Given the description of an element on the screen output the (x, y) to click on. 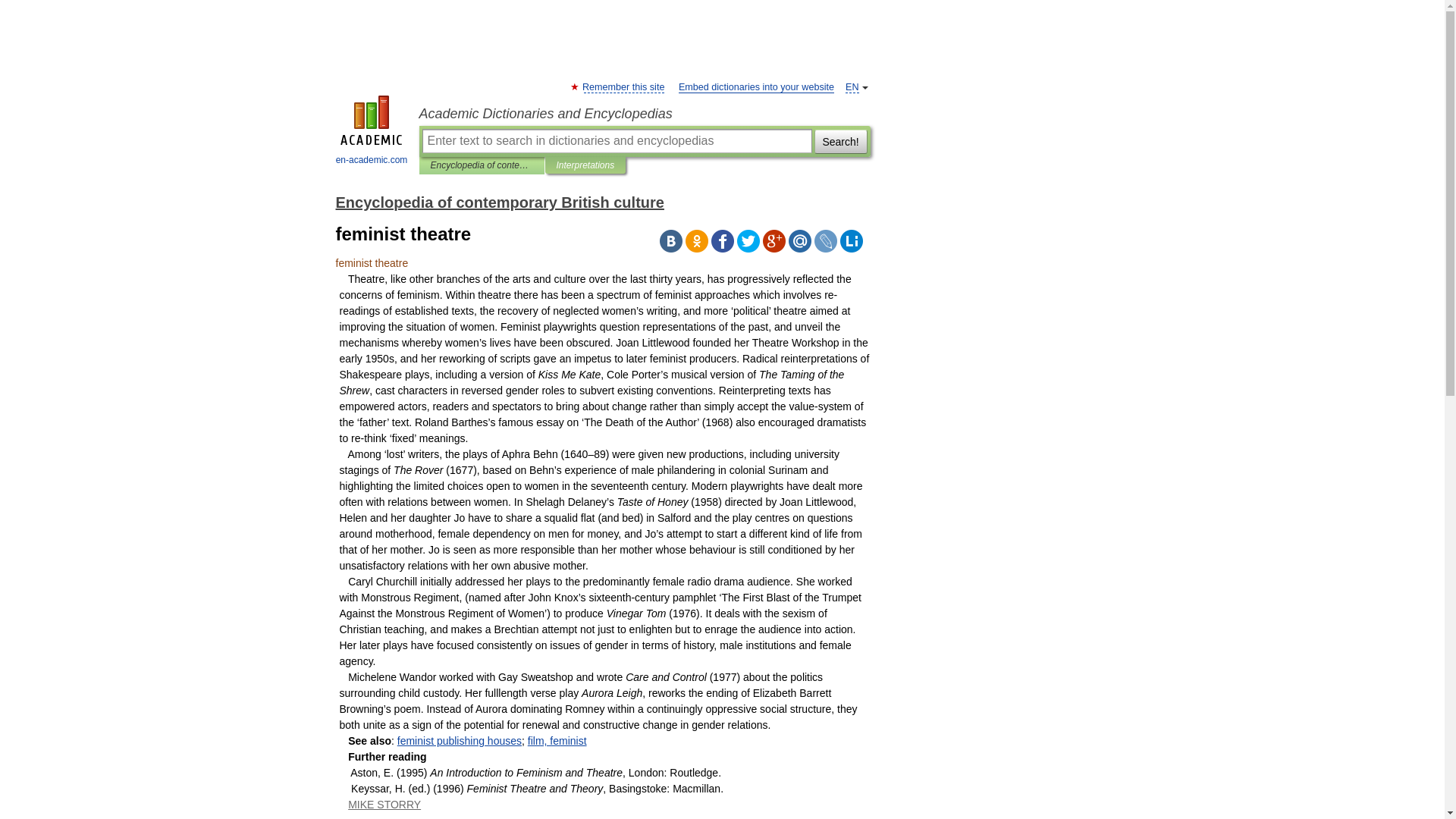
EN (852, 87)
Search! (840, 140)
Encyclopedia of contemporary British culture (498, 202)
Interpretations (585, 165)
Academic Dictionaries and Encyclopedias (644, 114)
Enter text to search in dictionaries and encyclopedias (616, 140)
Embed dictionaries into your website (756, 87)
feminist publishing houses (459, 740)
Encyclopedia of contemporary British culture (481, 165)
en-academic.com (371, 131)
Remember this site (623, 87)
film, feminist (556, 740)
